Given the description of an element on the screen output the (x, y) to click on. 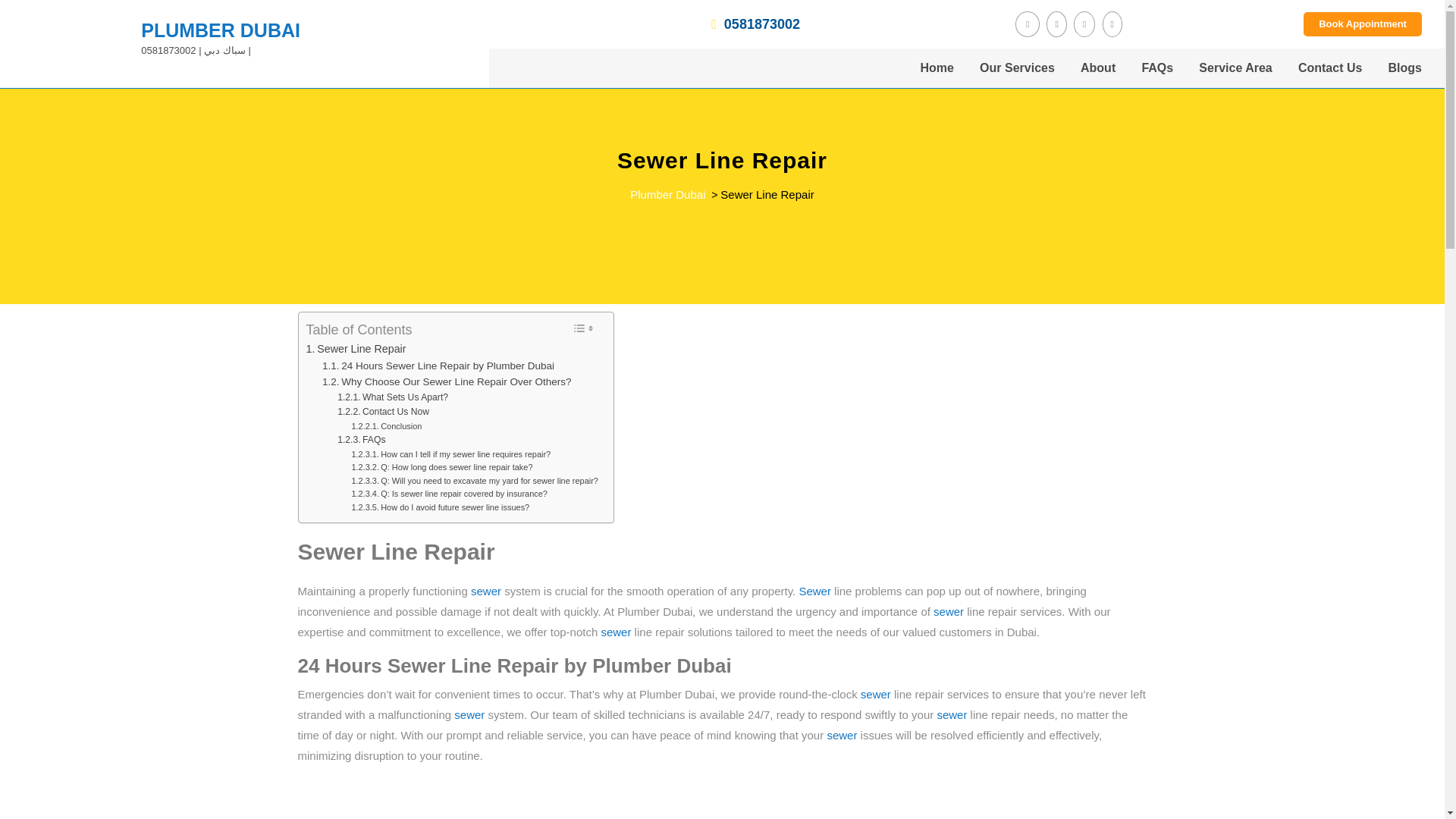
PLUMBER DUBAI (220, 29)
Contact Us Now (383, 412)
24 Hours Sewer Line Repair by Plumber Dubai (437, 365)
Book Appointment (1362, 24)
Q: Will you need to excavate my yard for sewer line repair? (473, 481)
How do I avoid future sewer line issues? (439, 508)
Our Services (1016, 67)
Why Choose Our Sewer Line Repair Over Others? (446, 381)
FAQs (361, 440)
0581873002 (655, 24)
Home (935, 67)
Conclusion (386, 427)
How can I tell if my sewer line requires repair? (450, 454)
Q: Is sewer line repair covered by insurance? (448, 494)
What Sets Us Apart? (392, 397)
